Given the description of an element on the screen output the (x, y) to click on. 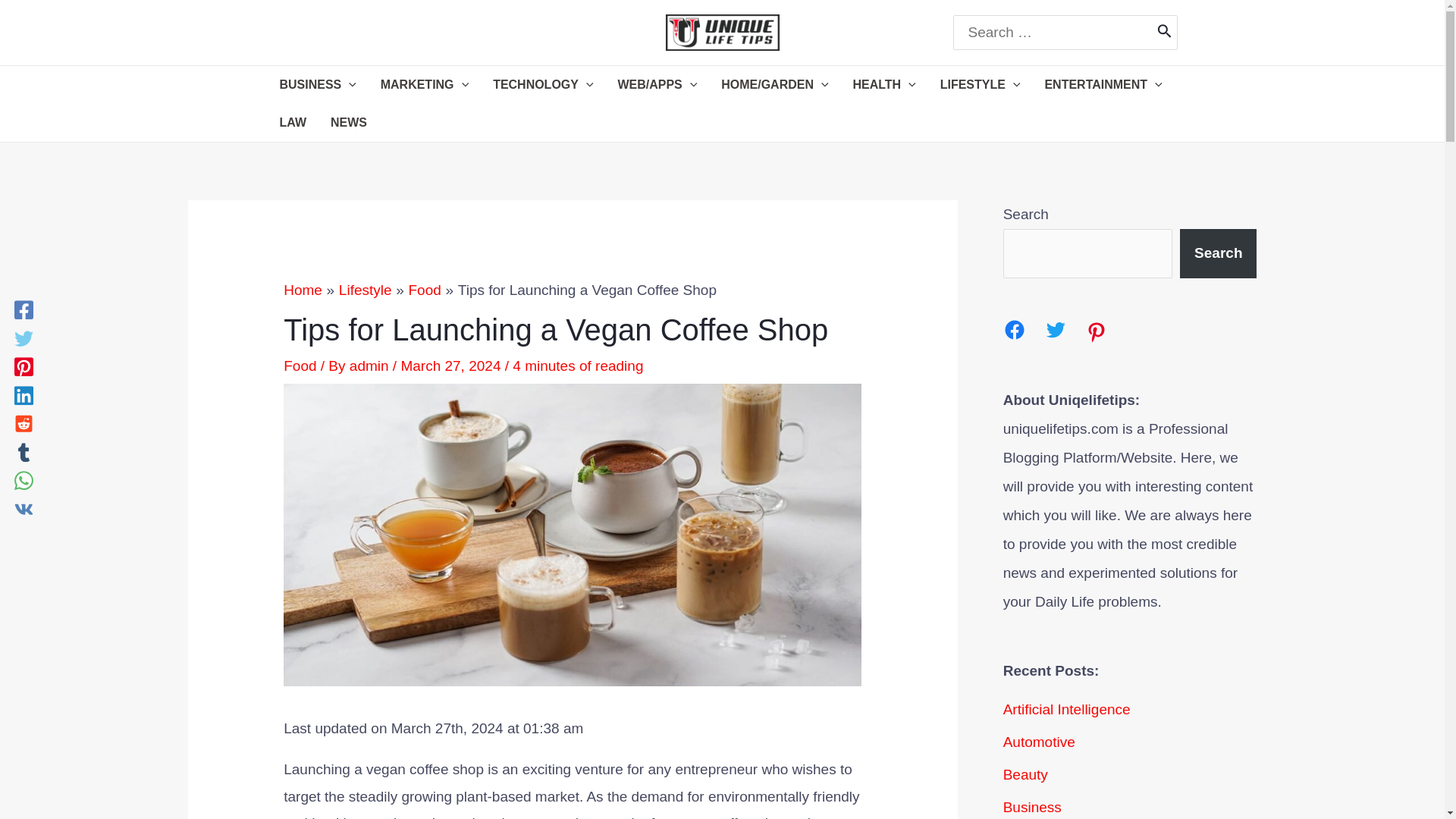
BUSINESS (317, 85)
HEALTH (884, 85)
MARKETING (424, 85)
TECHNOLOGY (542, 85)
Search (1164, 32)
View all posts by admin (371, 365)
ENTERTAINMENT (1102, 85)
LIFESTYLE (980, 85)
